Given the description of an element on the screen output the (x, y) to click on. 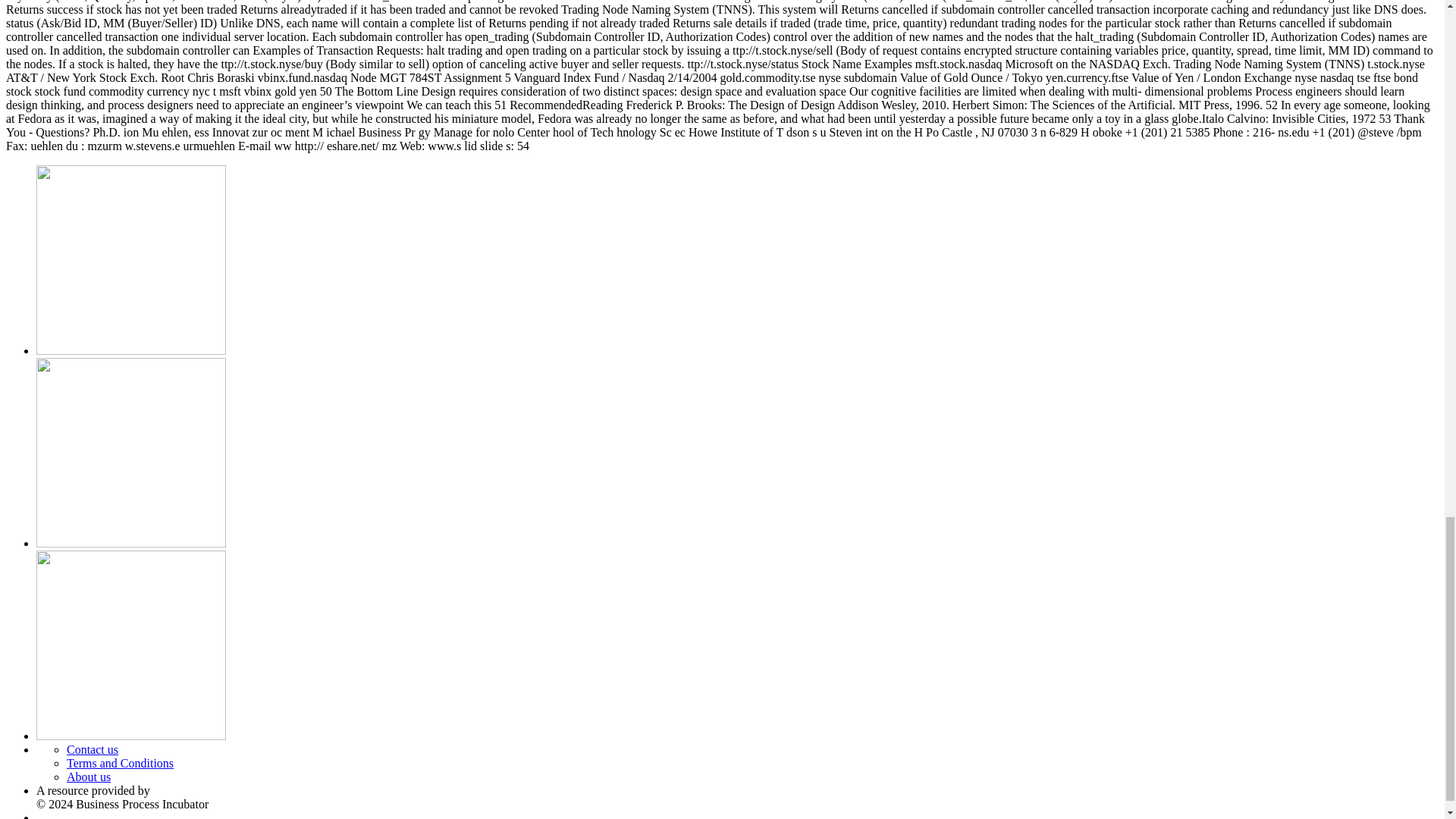
About us (88, 776)
Terms and Conditions (119, 762)
Contact us (91, 748)
